Given the description of an element on the screen output the (x, y) to click on. 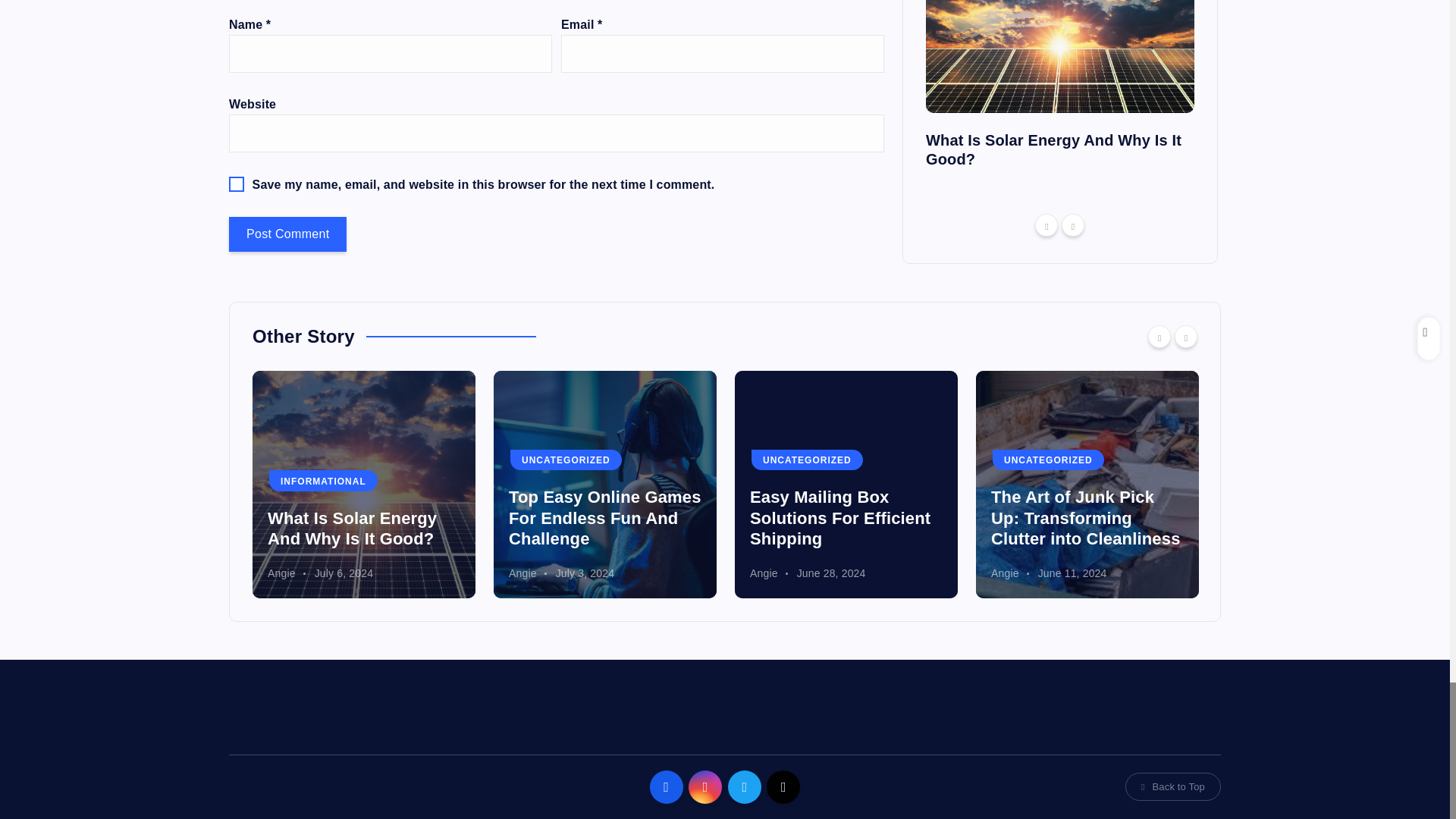
yes (236, 183)
Post Comment (287, 234)
Post Comment (287, 234)
